Given the description of an element on the screen output the (x, y) to click on. 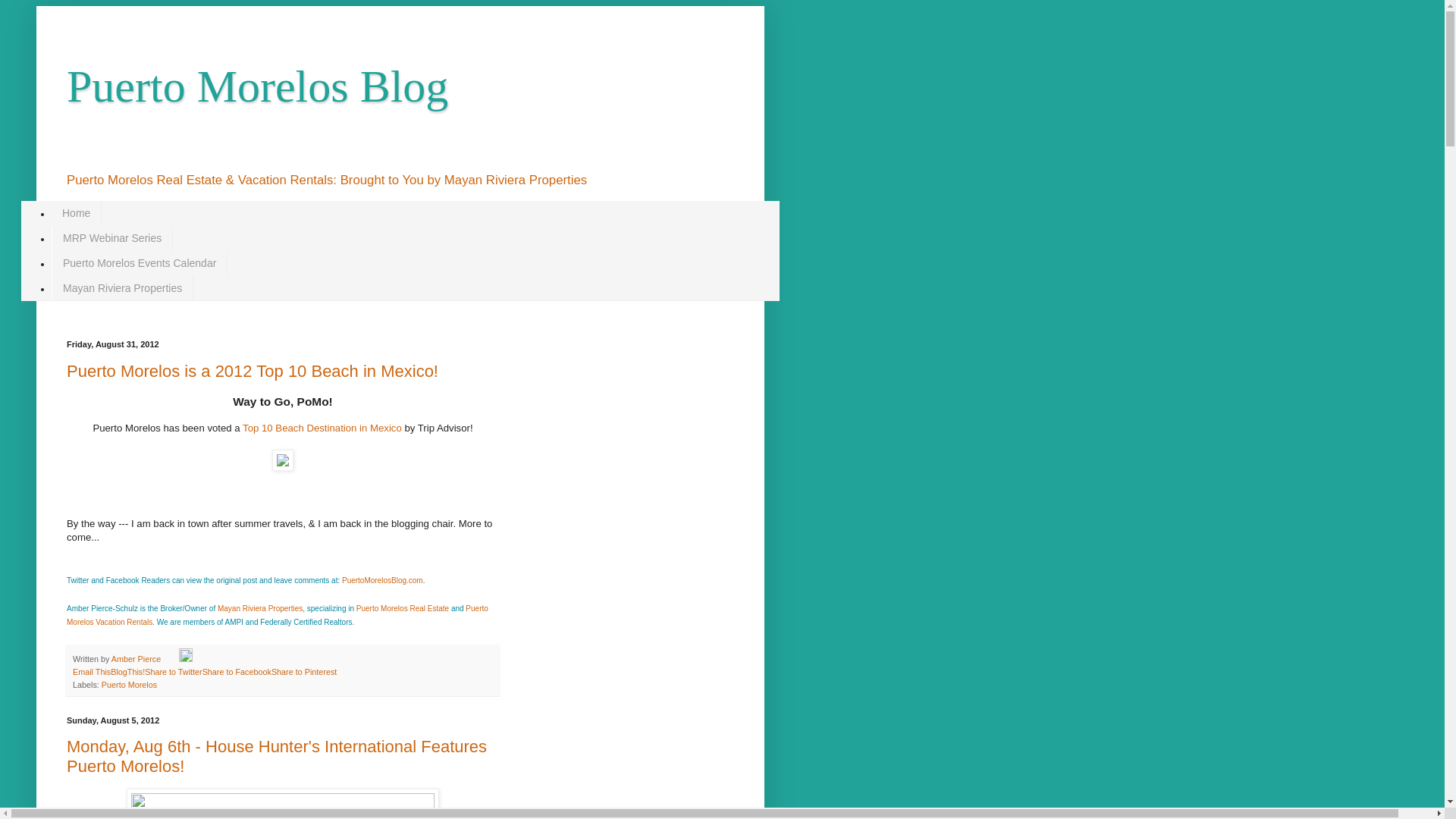
Email This (91, 671)
Mayan Riviera Properties (121, 287)
BlogThis! (127, 671)
MRP Webinar Series (111, 238)
Share to Pinterest (303, 671)
Puerto Morelos (129, 684)
Share to Pinterest (303, 671)
PuertoMorelosBlog.com (382, 580)
Puerto Morelos is a 2012 Top 10 Beach in Mexico! (252, 370)
Edit Post (185, 658)
Puerto Morelos Real Estate (402, 608)
BlogThis! (127, 671)
Home (75, 213)
Share to Facebook (236, 671)
